Given the description of an element on the screen output the (x, y) to click on. 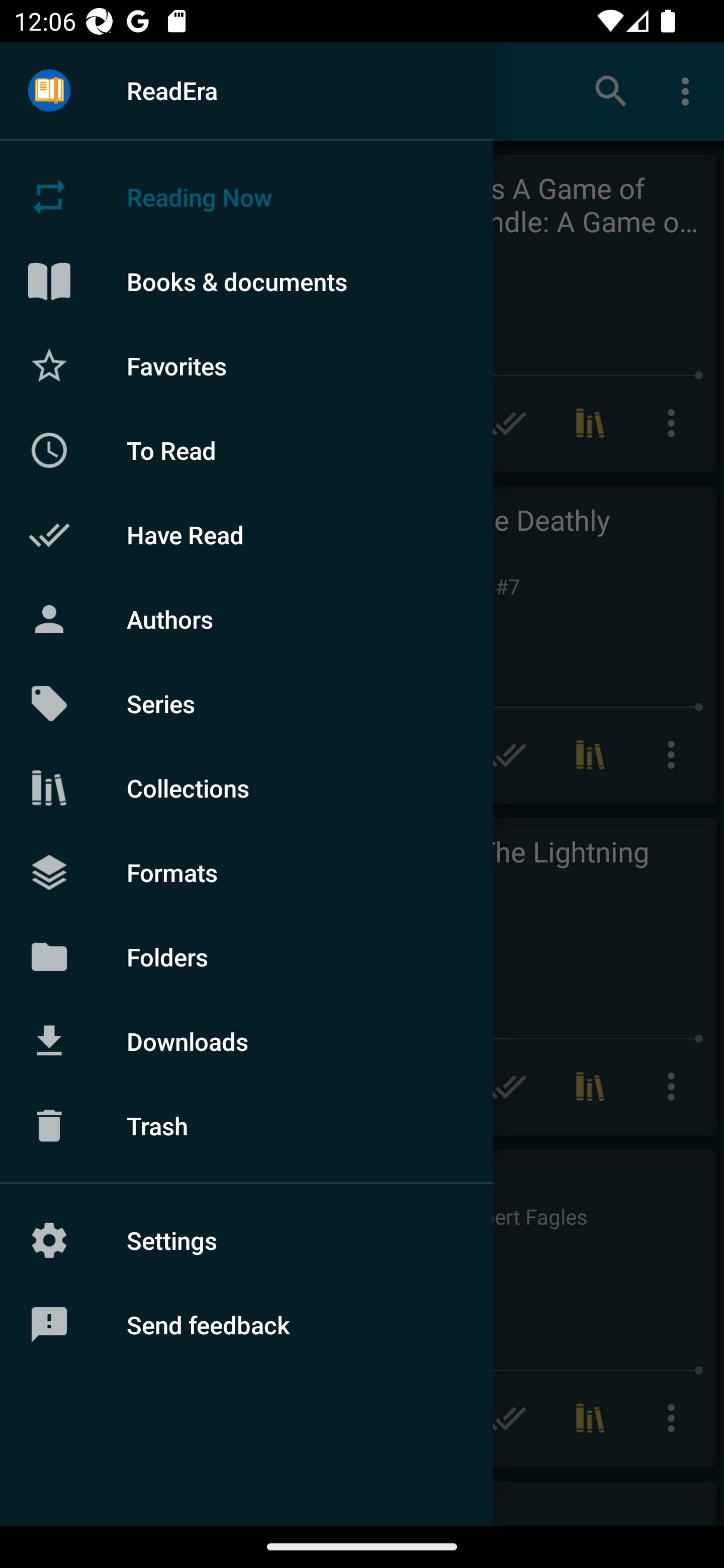
Menu (49, 91)
ReadEra (246, 89)
Search books & documents (611, 90)
More options (688, 90)
Reading Now (246, 197)
Books & documents (246, 281)
Favorites (246, 365)
To Read (246, 449)
Have Read (246, 534)
Authors (246, 619)
Series (246, 703)
Collections (246, 787)
Formats (246, 871)
Folders (246, 956)
Downloads (246, 1040)
Trash (246, 1125)
Settings (246, 1239)
Send feedback (246, 1324)
